Given the description of an element on the screen output the (x, y) to click on. 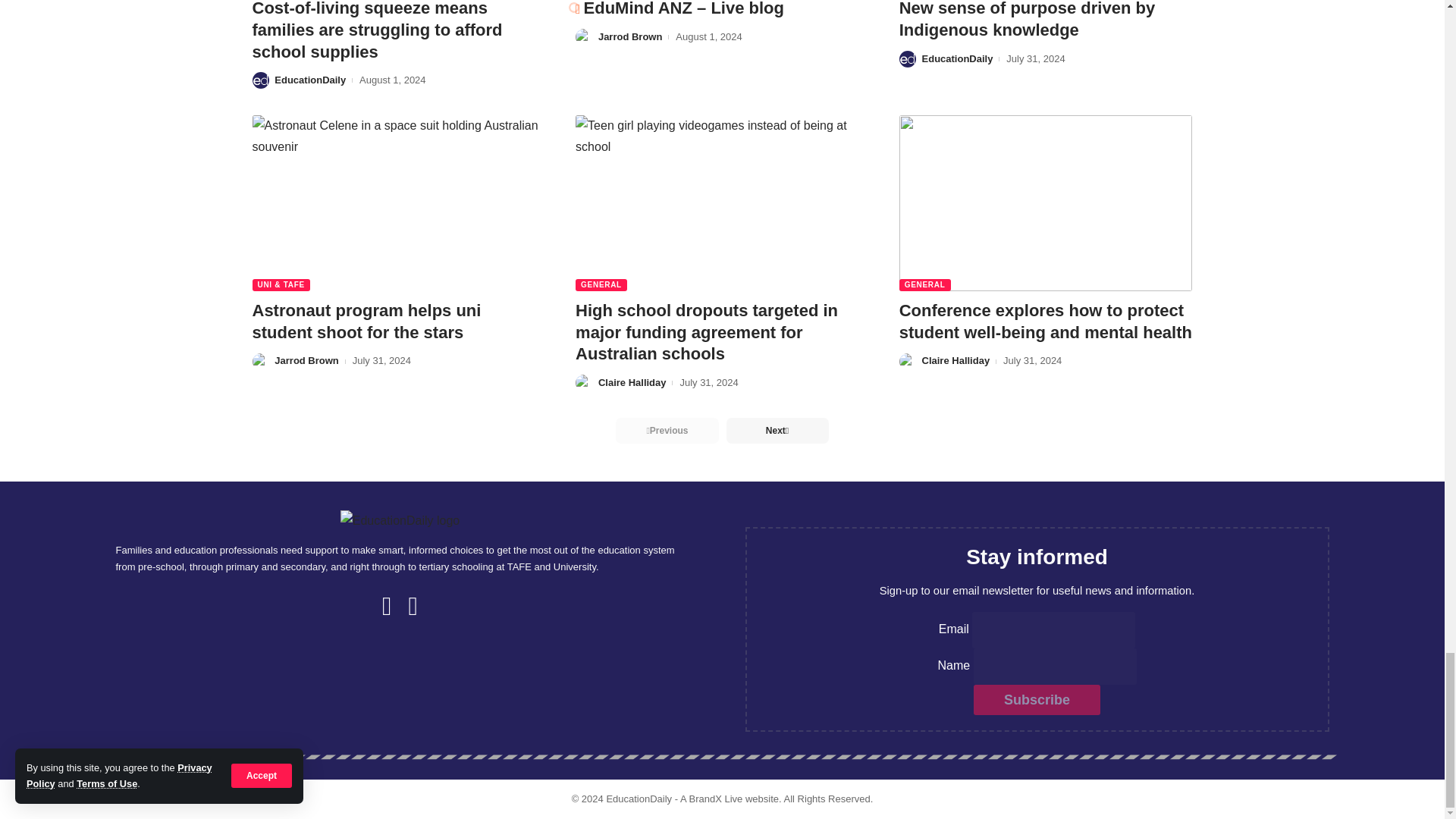
Subscribe (1037, 699)
